Given the description of an element on the screen output the (x, y) to click on. 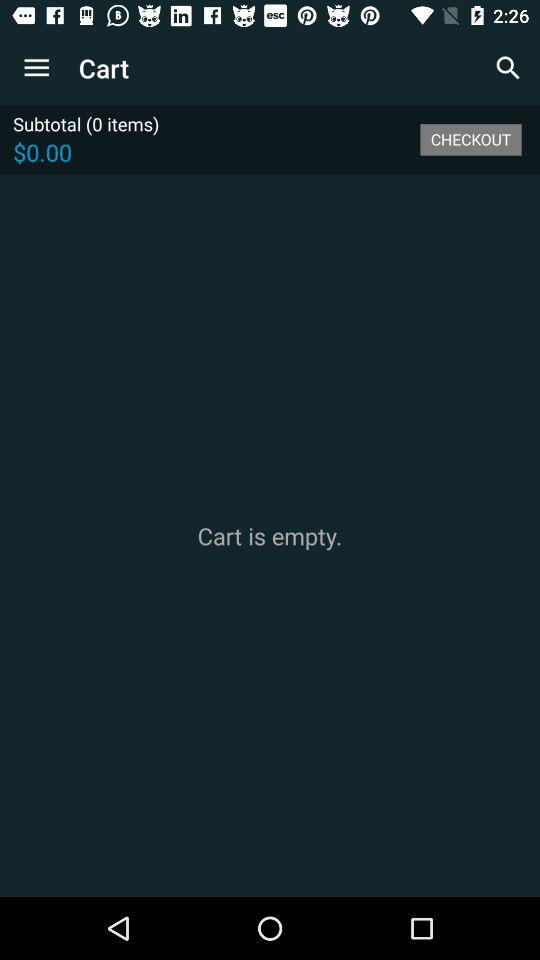
open icon above the subtotal (0 items) item (36, 68)
